Given the description of an element on the screen output the (x, y) to click on. 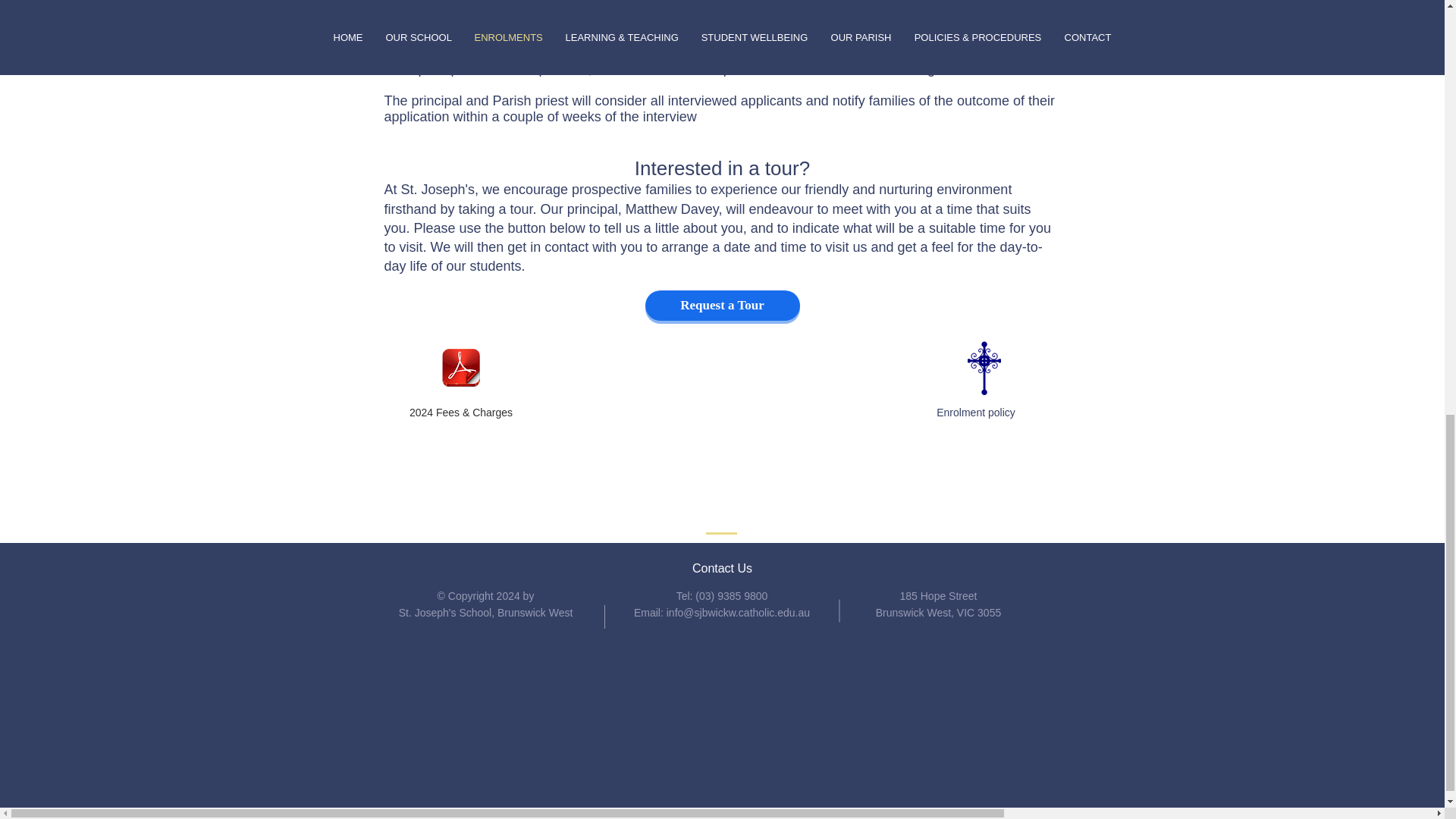
Request a Tour (722, 305)
Brunswick West, VIC 3055 (938, 612)
Enrolment policy (975, 412)
185 Hope Street (937, 595)
